Given the description of an element on the screen output the (x, y) to click on. 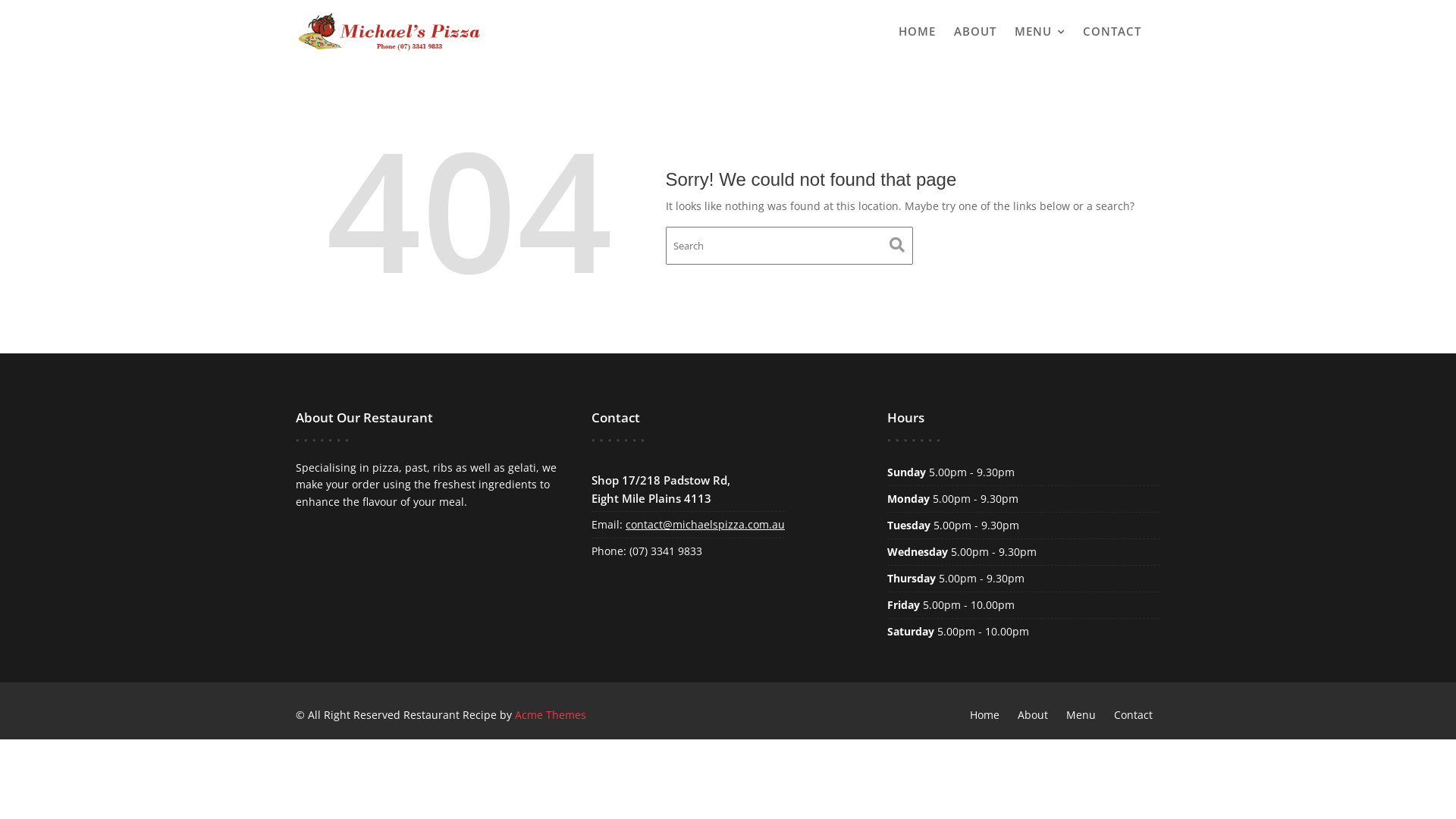
Menu Element type: text (1080, 714)
Contact Element type: text (1132, 714)
HOME Element type: text (917, 30)
CONTACT Element type: text (1111, 30)
About Element type: text (1032, 714)
Home Element type: text (984, 714)
contact@michaelspizza.com.au Element type: text (704, 524)
MENU Element type: text (1039, 31)
ABOUT Element type: text (975, 30)
Acme Themes Element type: text (550, 714)
